Given the description of an element on the screen output the (x, y) to click on. 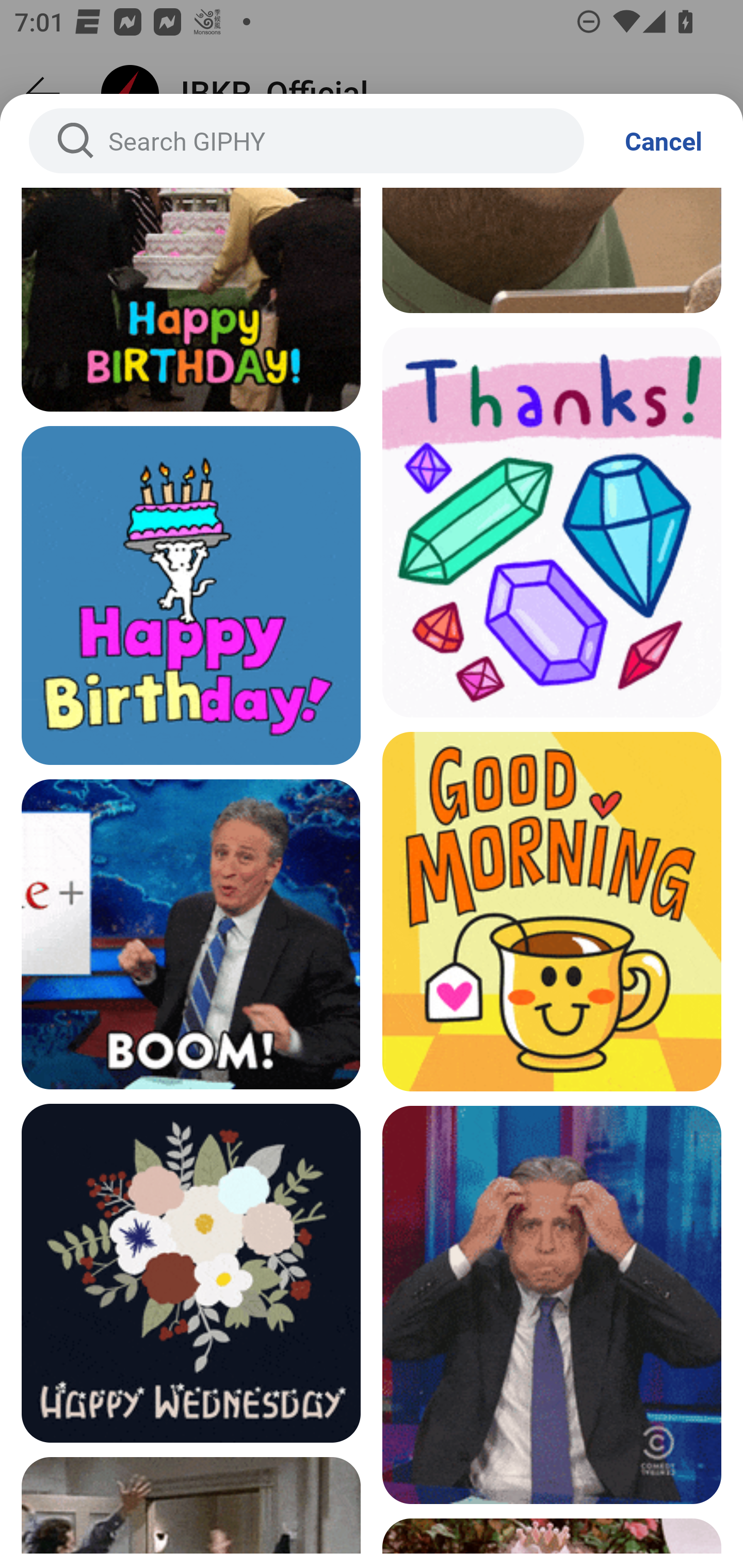
Search GIPHY (305, 141)
Cancel (663, 141)
Gif (190, 299)
Gif (551, 522)
Gif (190, 595)
Gif (551, 911)
Gif (190, 934)
Gif (190, 1272)
Gif (551, 1304)
